Given the description of an element on the screen output the (x, y) to click on. 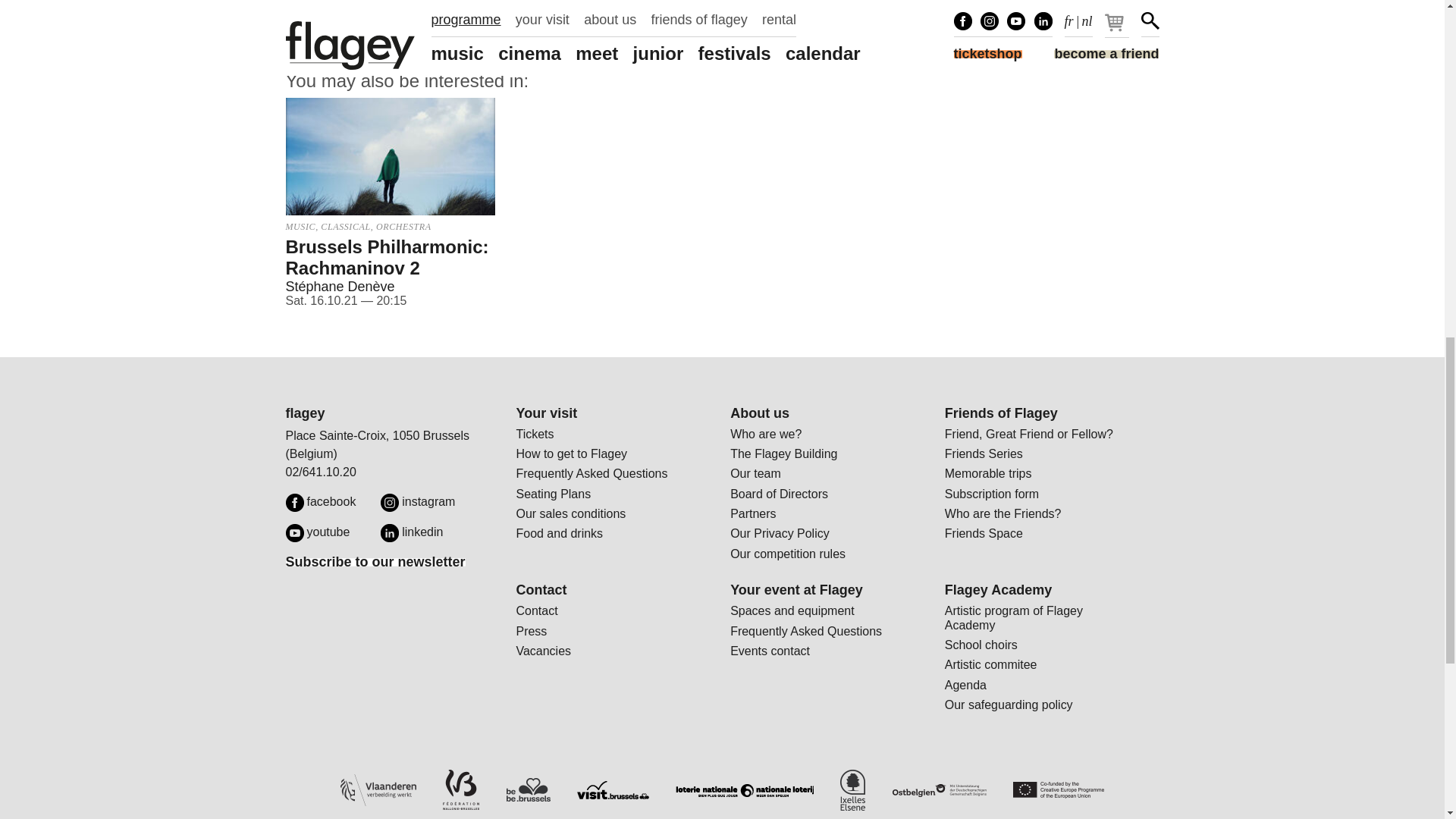
Vlaanderen verbeelding werkt (378, 789)
Brussels Philharmonic: Rachmaninov 2 (390, 156)
Creative European Programme (1058, 790)
Brussels-Capital Region (528, 790)
visit.brussels (612, 790)
Ostbelgien (939, 789)
Loterie nationale - Nationale loterij (744, 789)
